Given the description of an element on the screen output the (x, y) to click on. 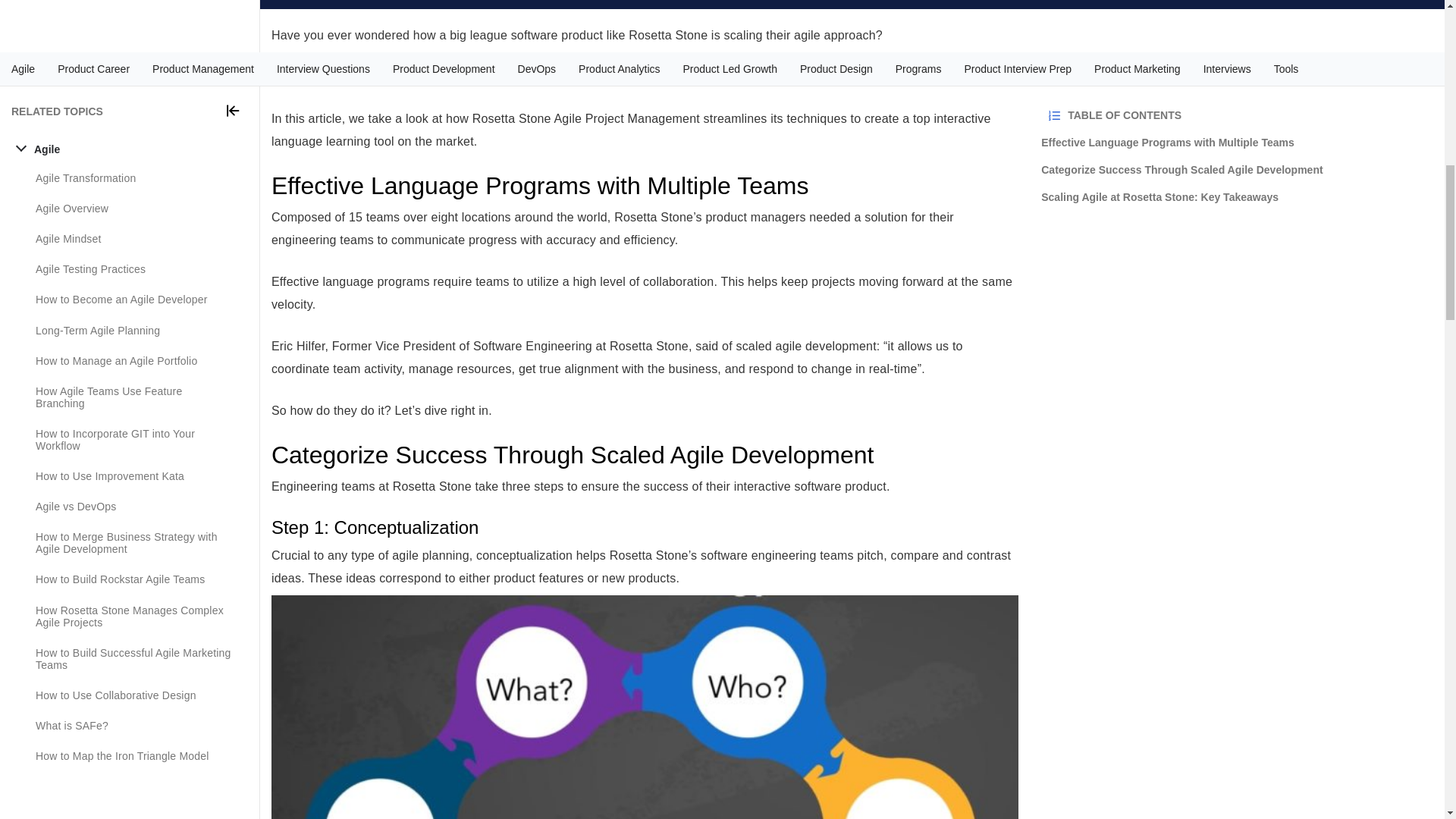
Categorize Success Through Scaled Agile Development (643, 455)
Step 1: Conceptualization (643, 527)
Effective Language Programs with Multiple Teams (1236, 64)
Categorize Success Through Scaled Agile Development (1236, 92)
Effective Language Programs with Multiple Teams (643, 185)
Scaling Agile at Rosetta Stone: Key Takeaways (1236, 119)
